Given the description of an element on the screen output the (x, y) to click on. 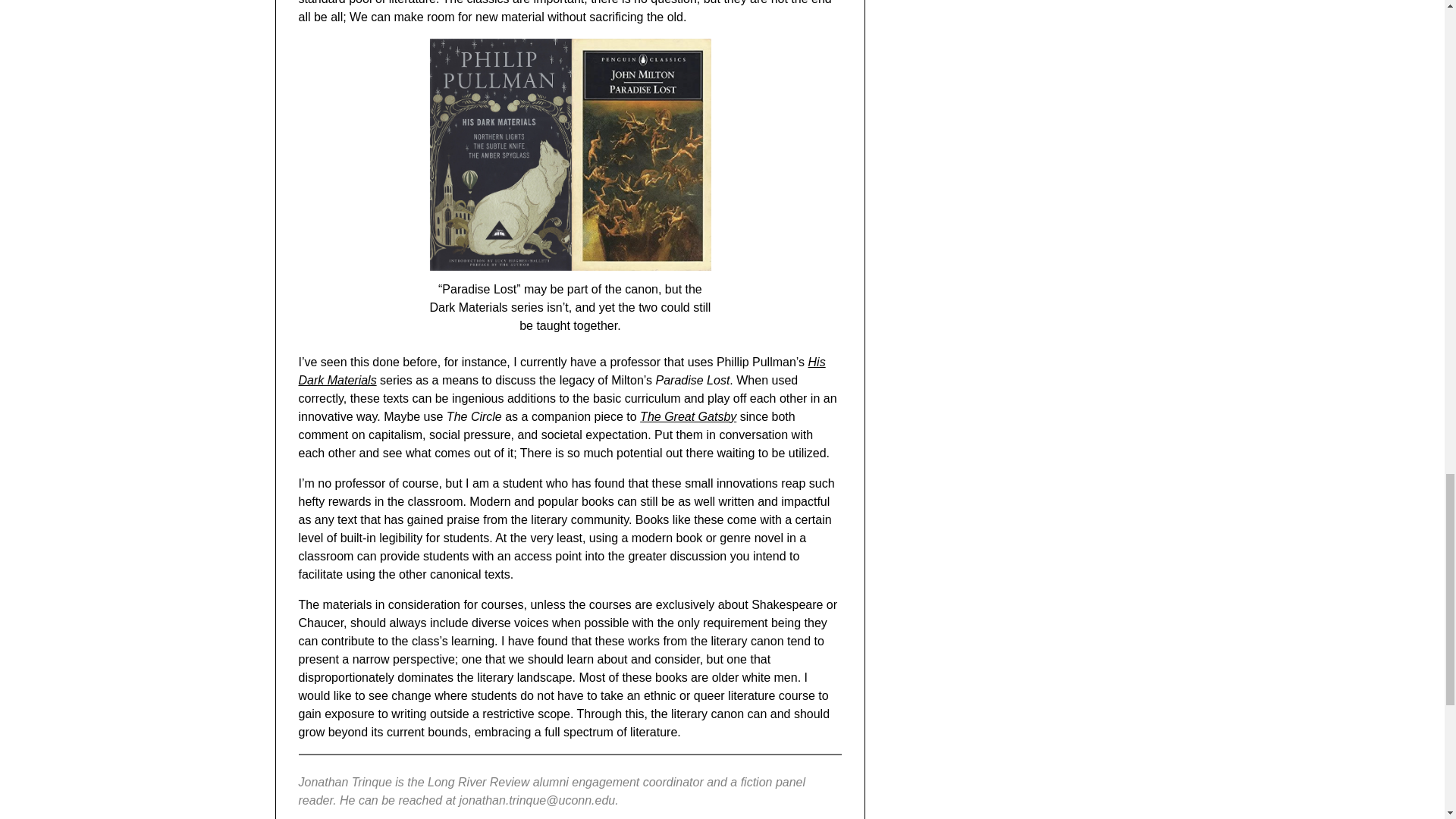
His Dark Materials (561, 370)
The Great Gatsby (688, 416)
